Given the description of an element on the screen output the (x, y) to click on. 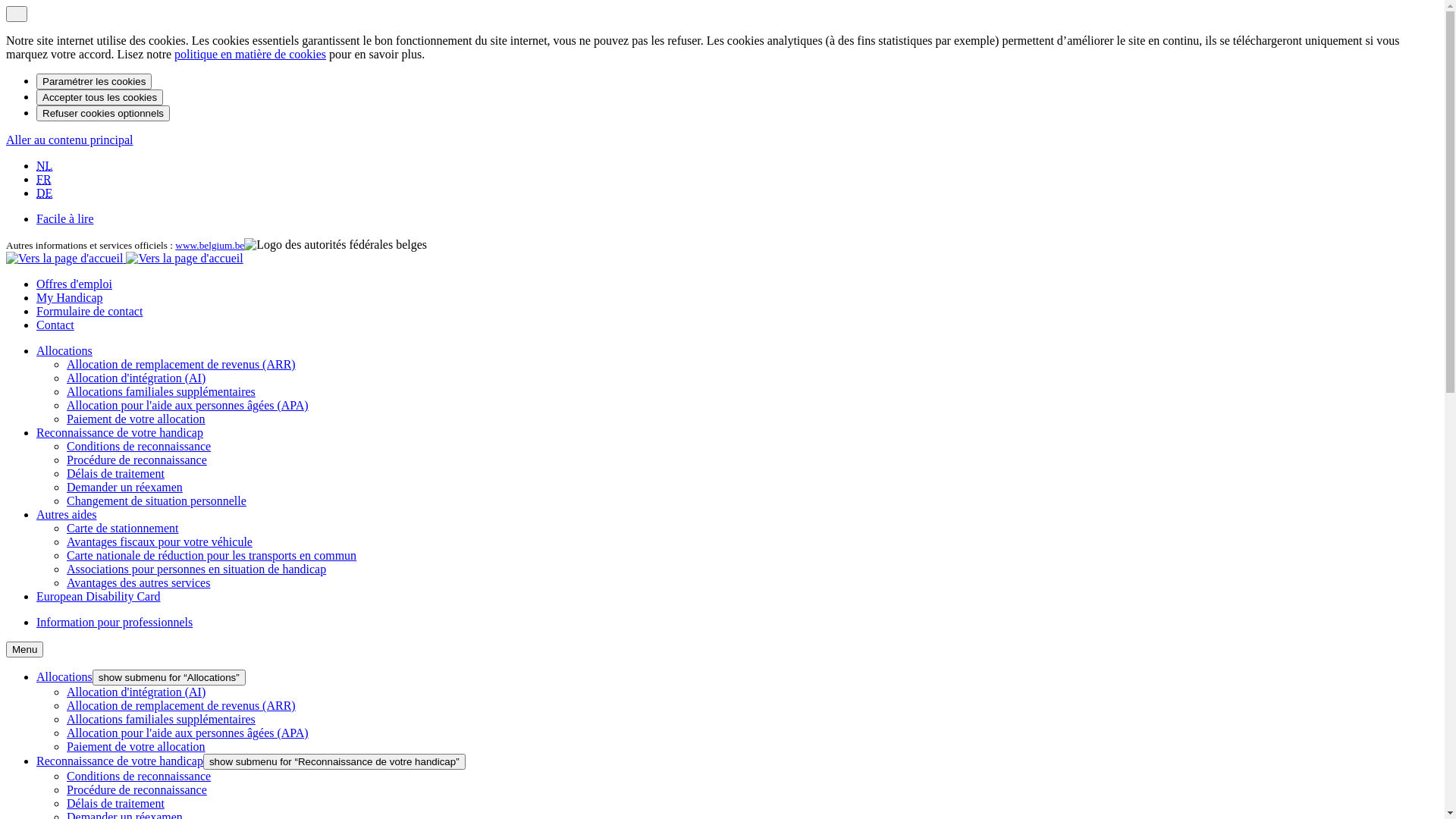
Conditions de reconnaissance Element type: text (138, 445)
Vers la page d'accueil Element type: hover (124, 257)
www.belgium.be Element type: text (209, 245)
Associations pour personnes en situation de handicap Element type: text (196, 568)
NL Element type: text (44, 165)
Allocation de remplacement de revenus (ARR) Element type: text (180, 363)
Allocation de remplacement de revenus (ARR) Element type: text (180, 705)
Autres aides Element type: text (66, 514)
Avantages des autres services Element type: text (138, 582)
Reconnaissance de votre handicap Element type: text (119, 760)
Conditions de reconnaissance Element type: text (138, 775)
Offres d'emploi Element type: text (74, 283)
Formulaire de contact Element type: text (89, 310)
Refuser cookies optionnels Element type: text (102, 113)
Accepter tous les cookies Element type: text (99, 97)
Paiement de votre allocation Element type: text (135, 418)
Contact Element type: text (55, 324)
Fermer Element type: text (16, 13)
Paiement de votre allocation Element type: text (135, 746)
Allocations Element type: text (64, 676)
My Handicap Element type: text (69, 297)
FR Element type: text (43, 178)
Changement de situation personnelle Element type: text (156, 500)
Reconnaissance de votre handicap Element type: text (119, 432)
Allocations Element type: text (64, 350)
Carte de stationnement Element type: text (122, 527)
Information pour professionnels Element type: text (114, 621)
DE Element type: text (44, 192)
Aller au contenu principal Element type: text (69, 139)
European Disability Card Element type: text (98, 595)
Menu Element type: text (24, 649)
